Given the description of an element on the screen output the (x, y) to click on. 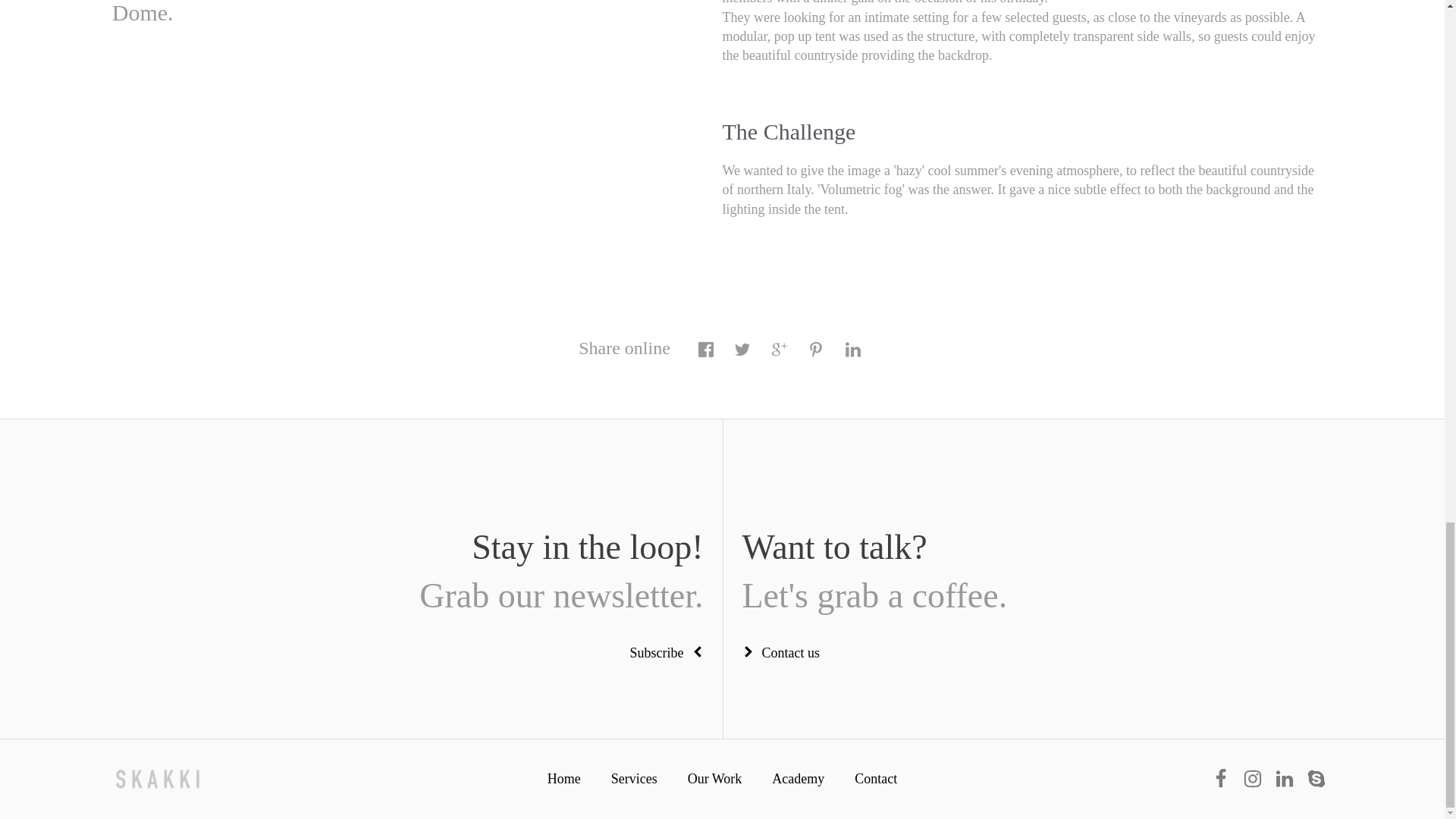
Share on LinkedIn (852, 356)
Academy (798, 778)
Tweet (741, 356)
Pin it (815, 356)
Share on Facebook (705, 356)
Contact (876, 778)
Services (633, 778)
Home (714, 778)
